Given the description of an element on the screen output the (x, y) to click on. 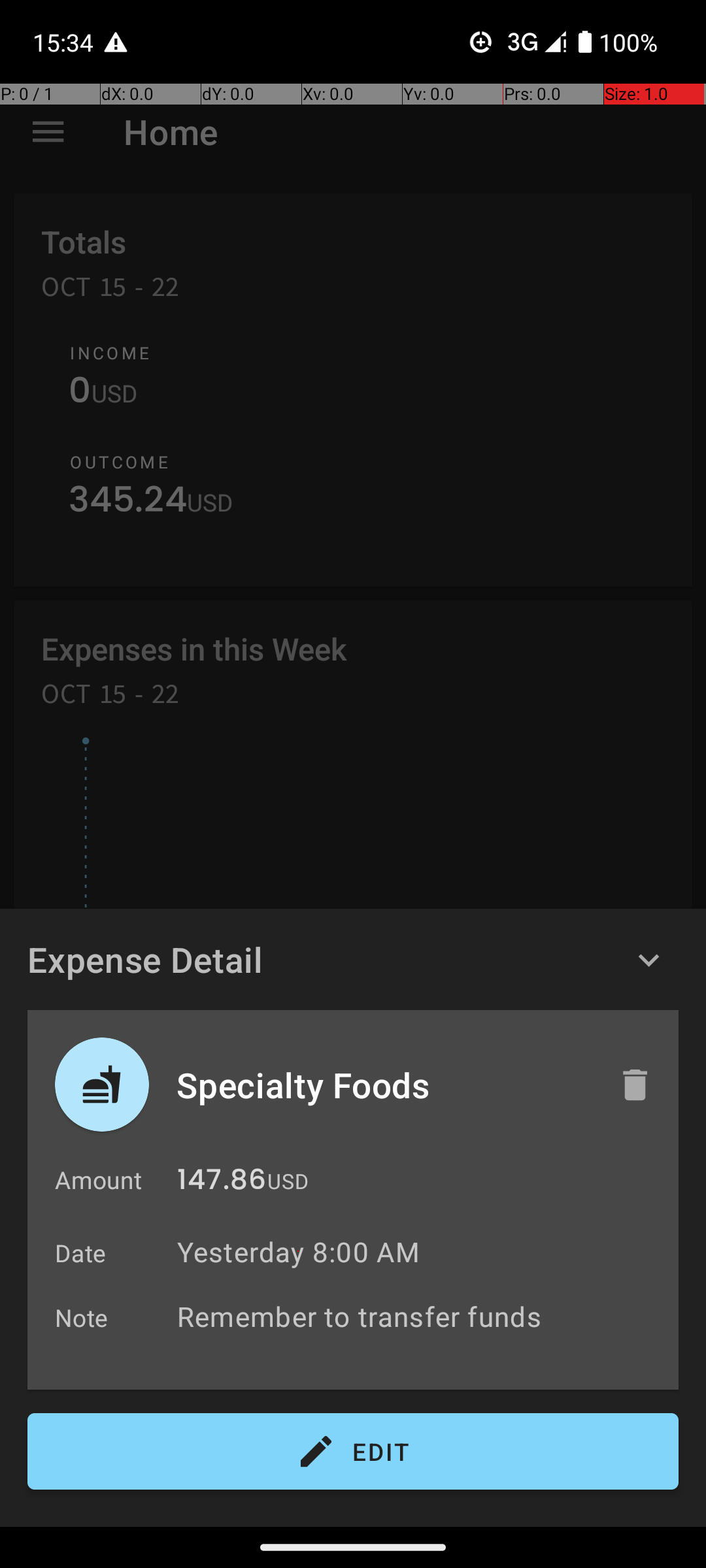
Expense Detail Element type: android.widget.TextView (145, 959)
Specialty Foods Element type: android.widget.TextView (383, 1084)
Amount Element type: android.widget.TextView (97, 1179)
147.86 Element type: android.widget.TextView (221, 1182)
Date Element type: android.widget.TextView (80, 1252)
Yesterday 8:00 AM Element type: android.widget.TextView (298, 1251)
Note Element type: android.widget.TextView (81, 1317)
Remember to transfer funds Element type: android.widget.TextView (420, 1315)
EDIT Element type: android.widget.Button (352, 1451)
